Given the description of an element on the screen output the (x, y) to click on. 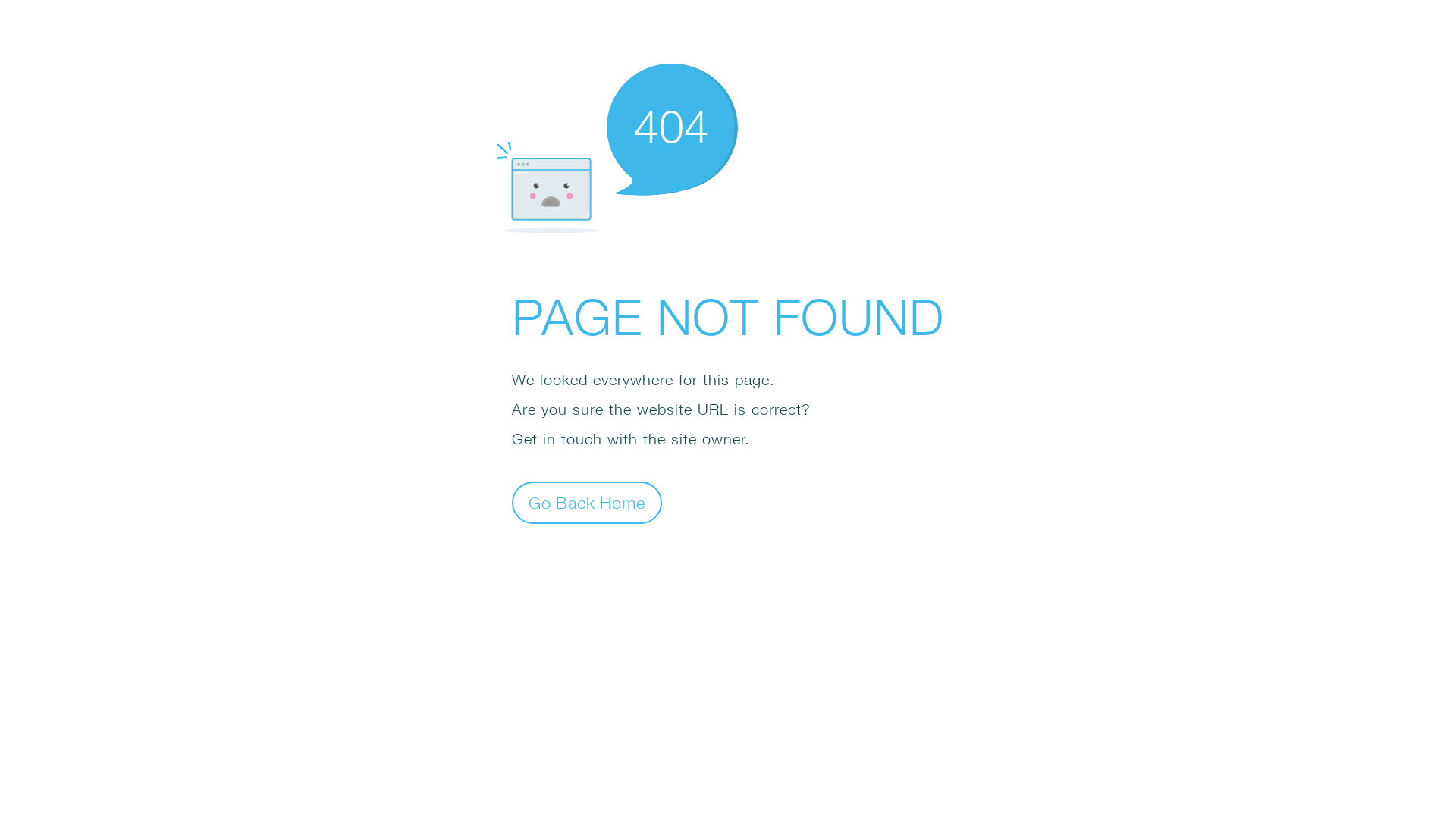
Go Back Home Element type: text (586, 502)
